Given the description of an element on the screen output the (x, y) to click on. 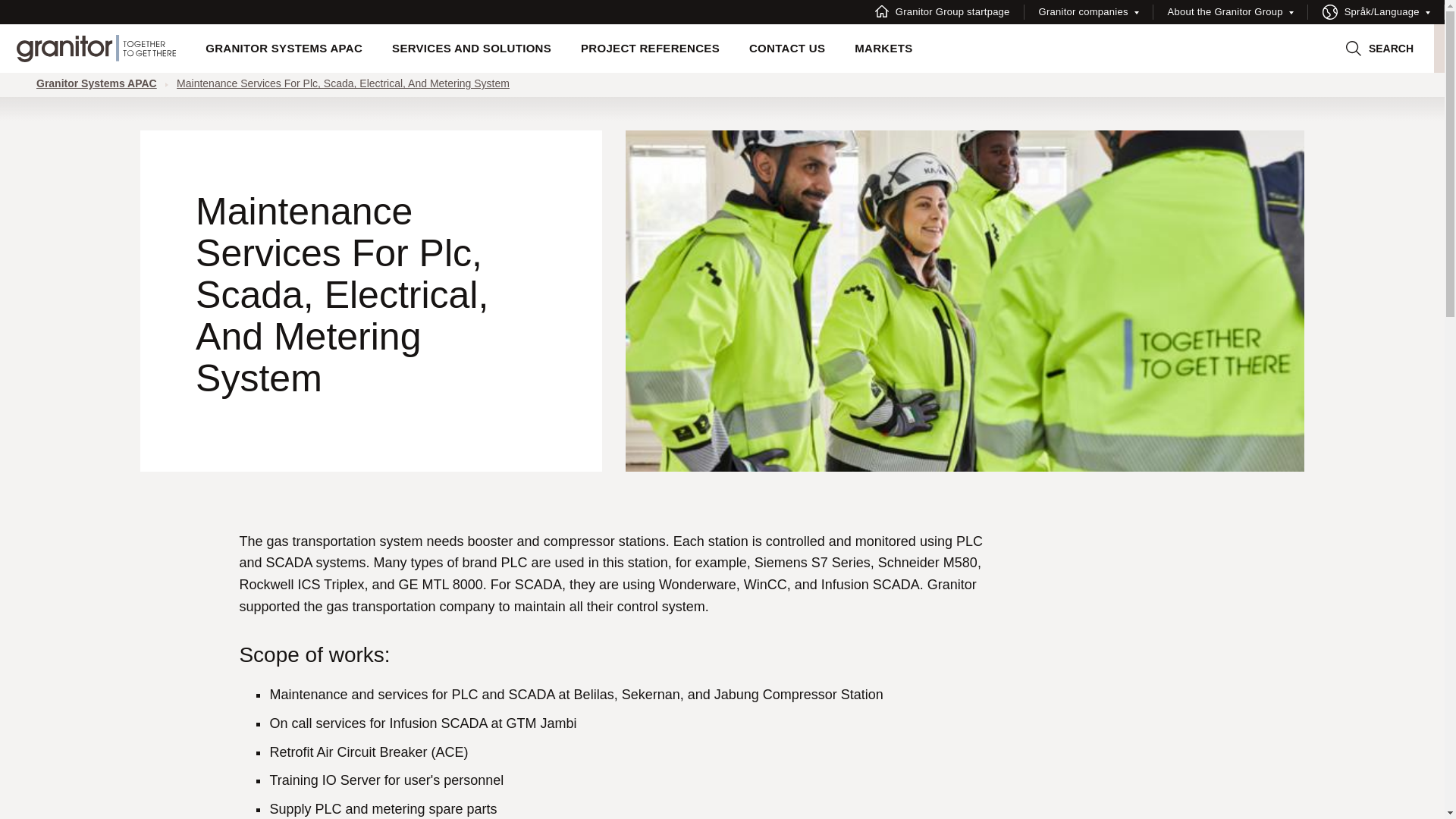
Granitor Group startpage (942, 12)
PROJECT REFERENCES (650, 48)
SERVICES AND SOLUTIONS (471, 48)
CONTACT US (786, 48)
GRANITOR SYSTEMS APAC (283, 48)
